Given the description of an element on the screen output the (x, y) to click on. 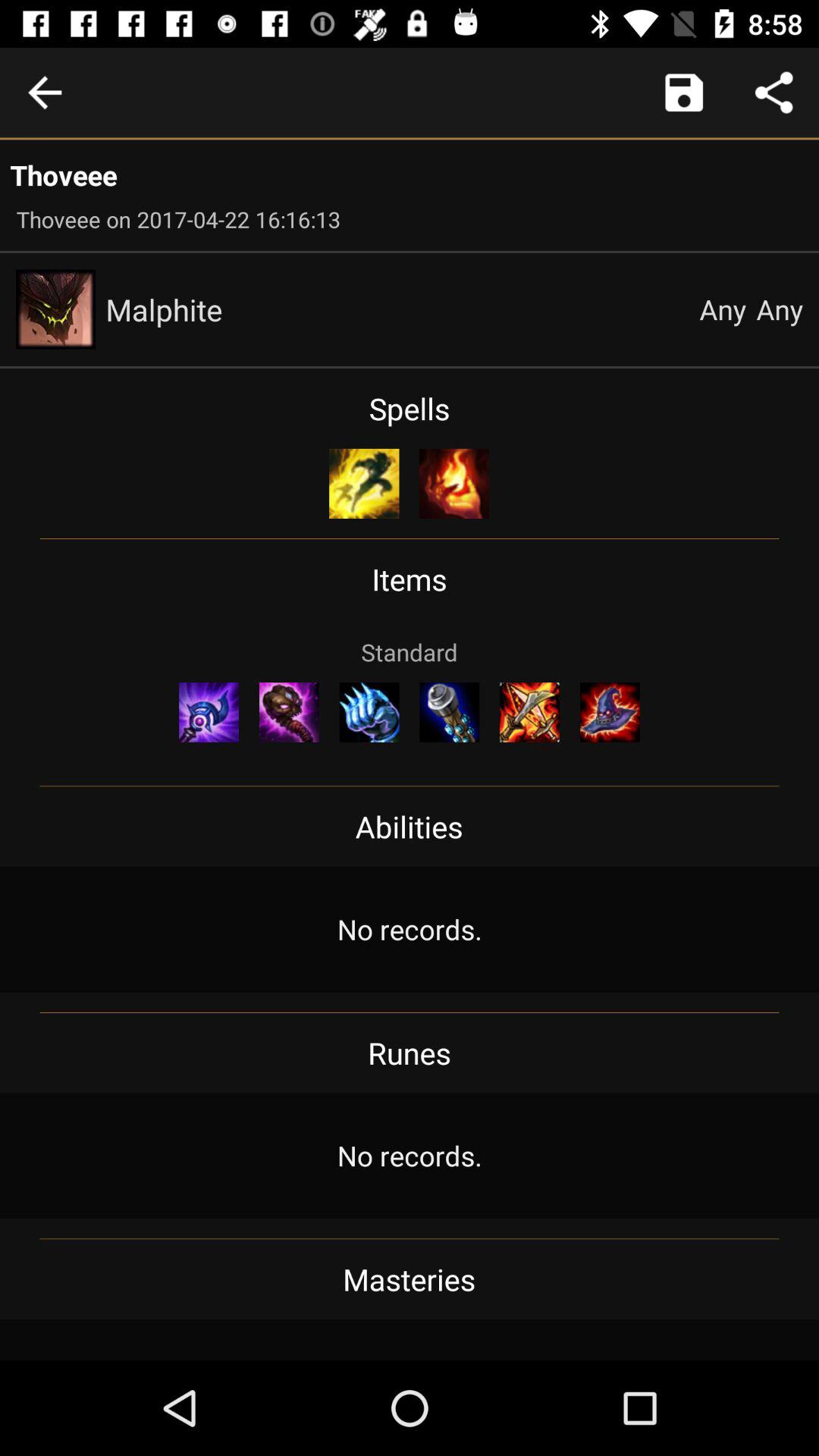
save (684, 92)
